Given the description of an element on the screen output the (x, y) to click on. 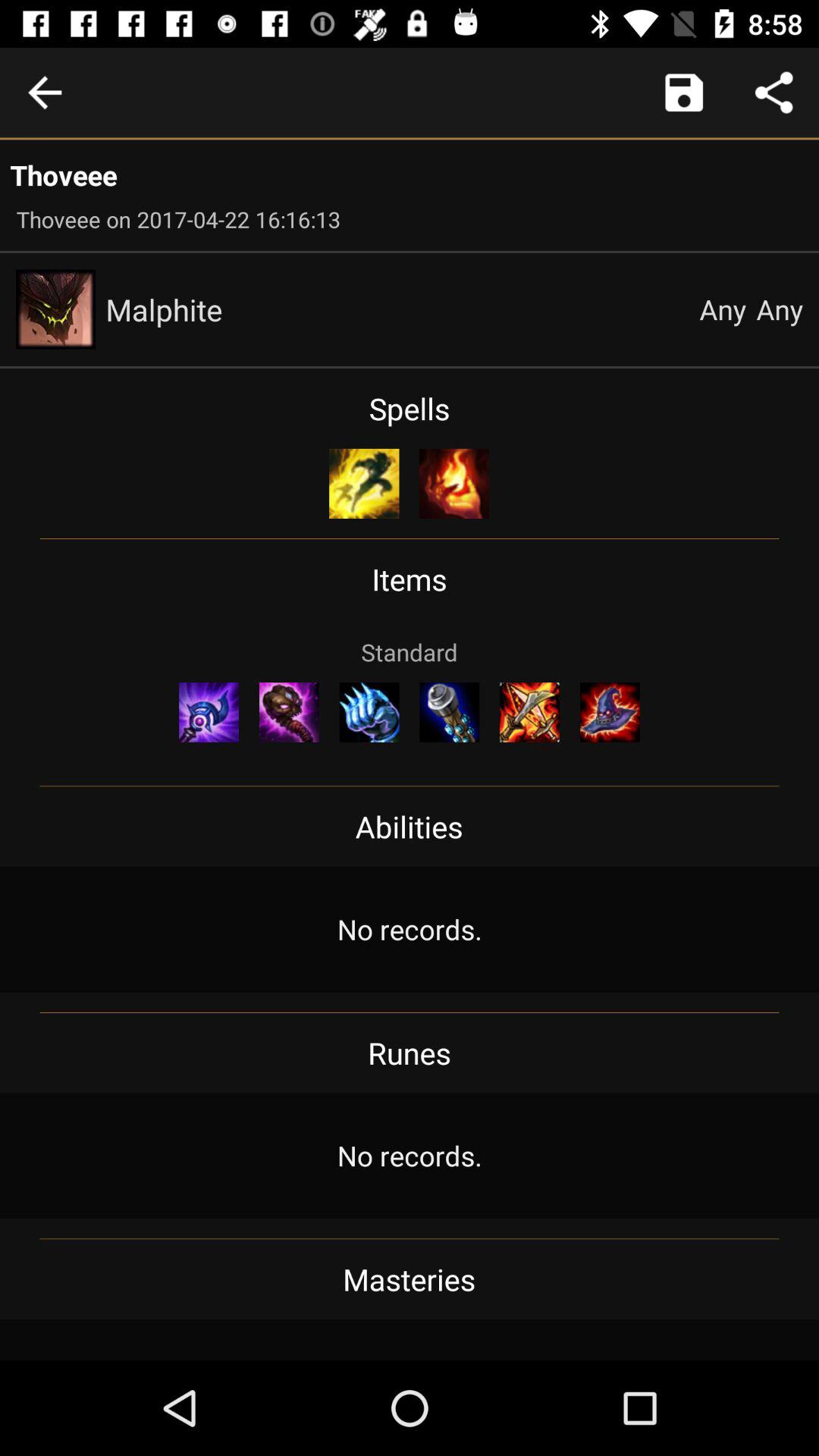
save (684, 92)
